Given the description of an element on the screen output the (x, y) to click on. 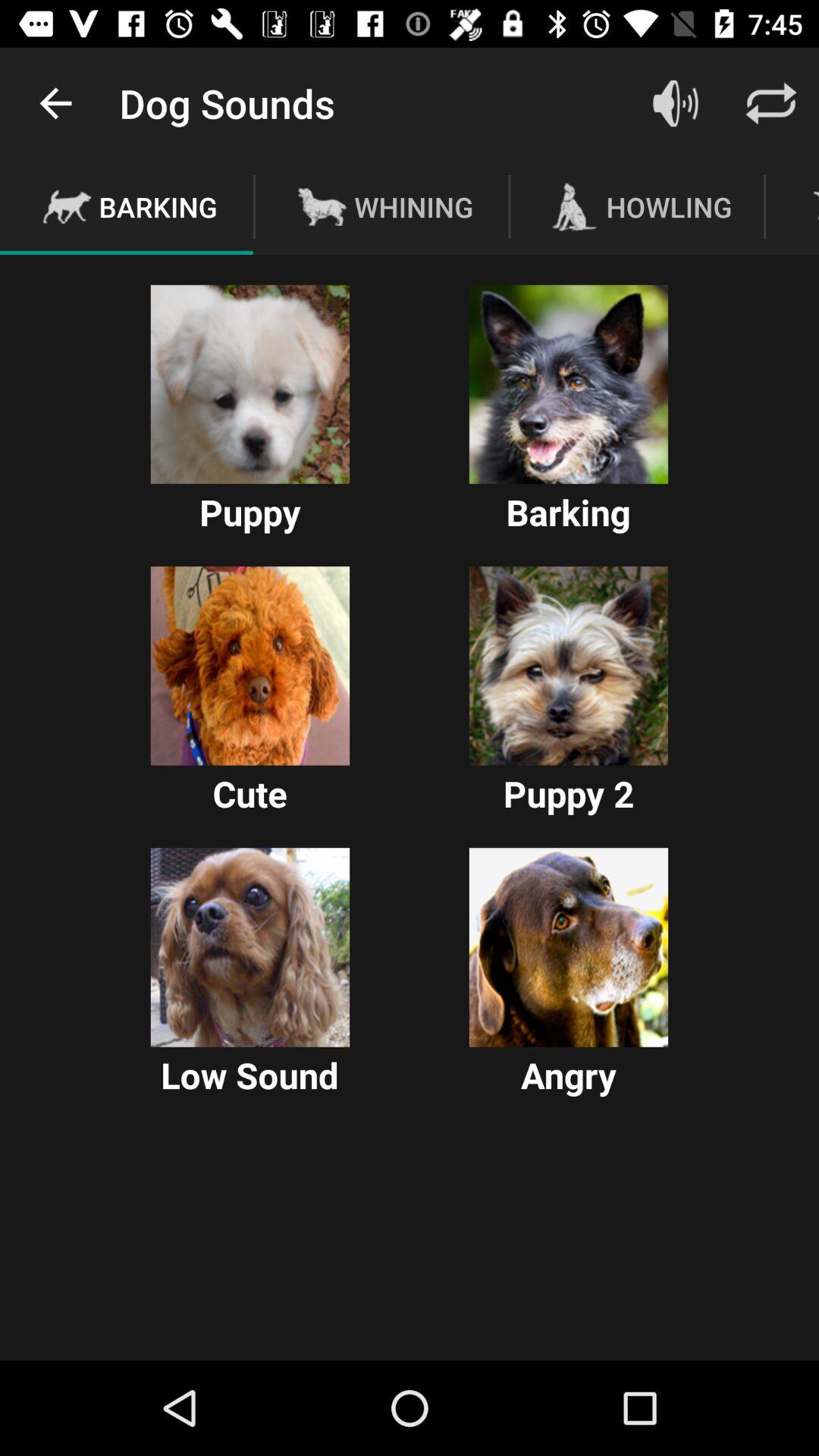
go sound (675, 103)
